Given the description of an element on the screen output the (x, y) to click on. 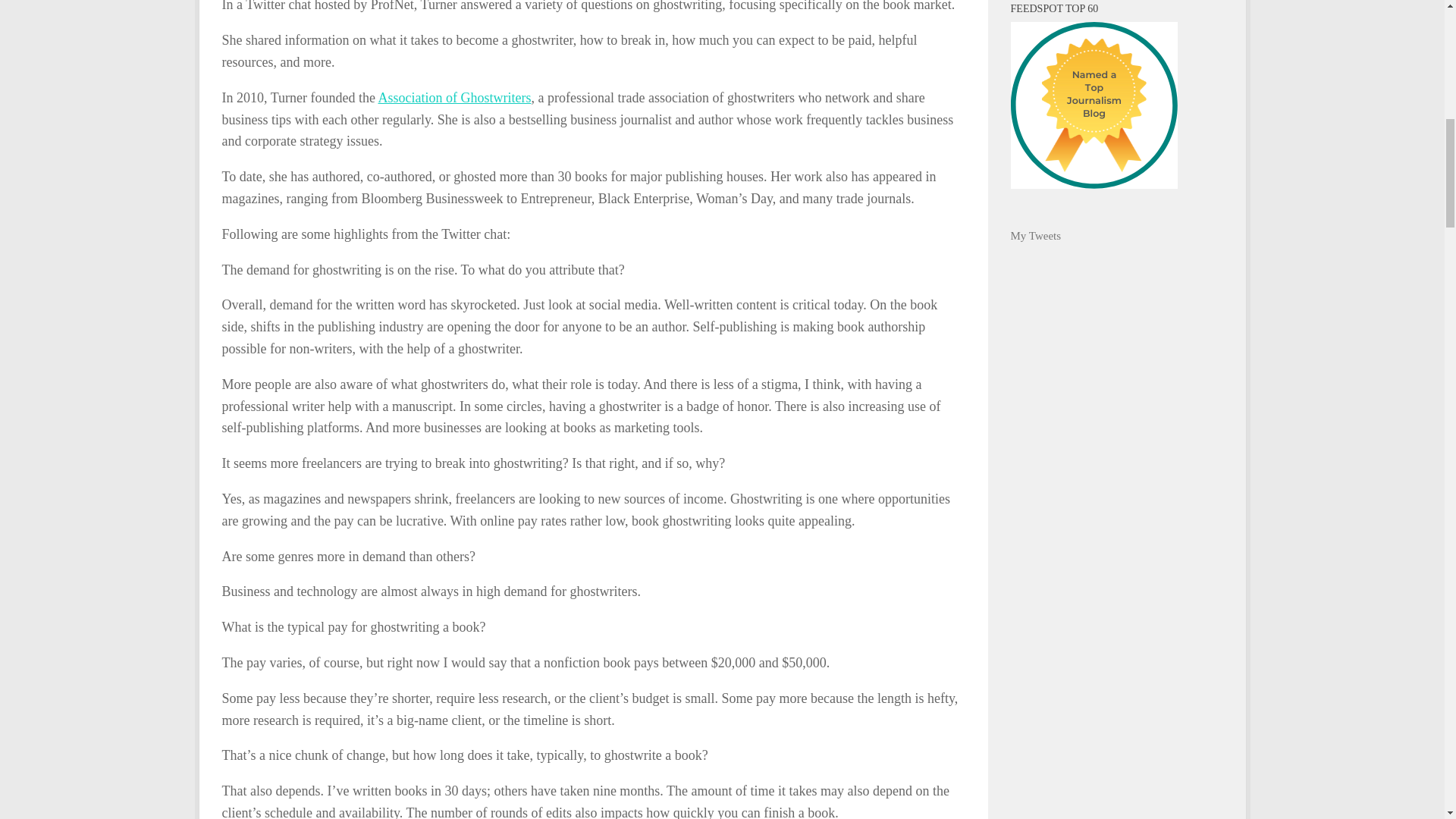
Association of Ghostwriters (454, 97)
